Given the description of an element on the screen output the (x, y) to click on. 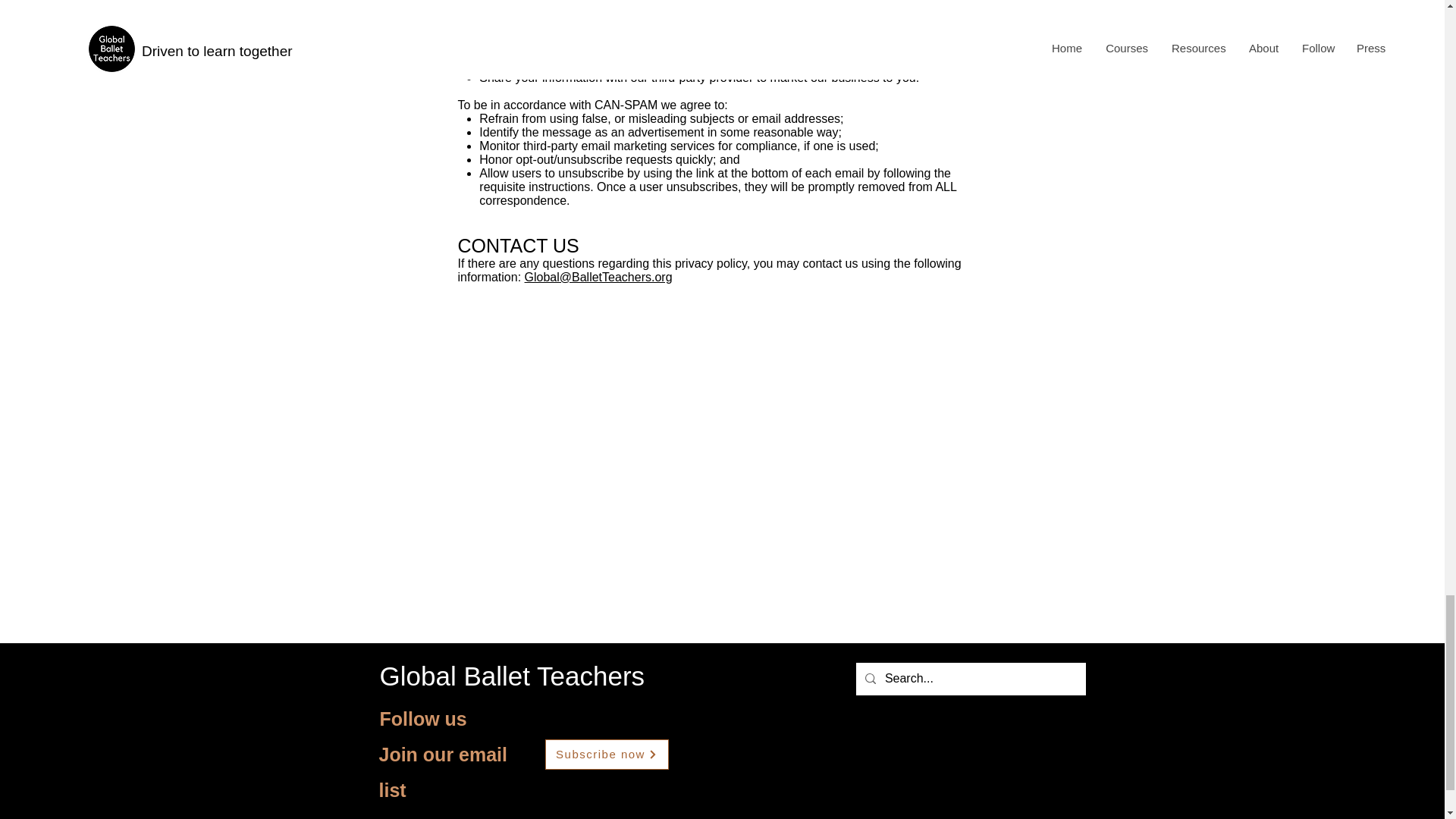
Global Ballet Teachers (511, 675)
Subscribe now (606, 754)
